Given the description of an element on the screen output the (x, y) to click on. 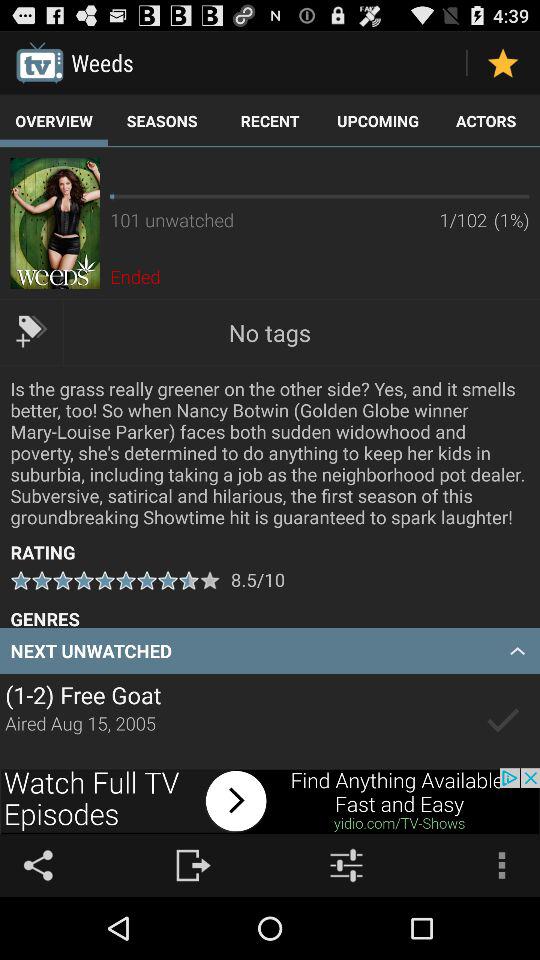
add episode to unwatched (502, 721)
